Given the description of an element on the screen output the (x, y) to click on. 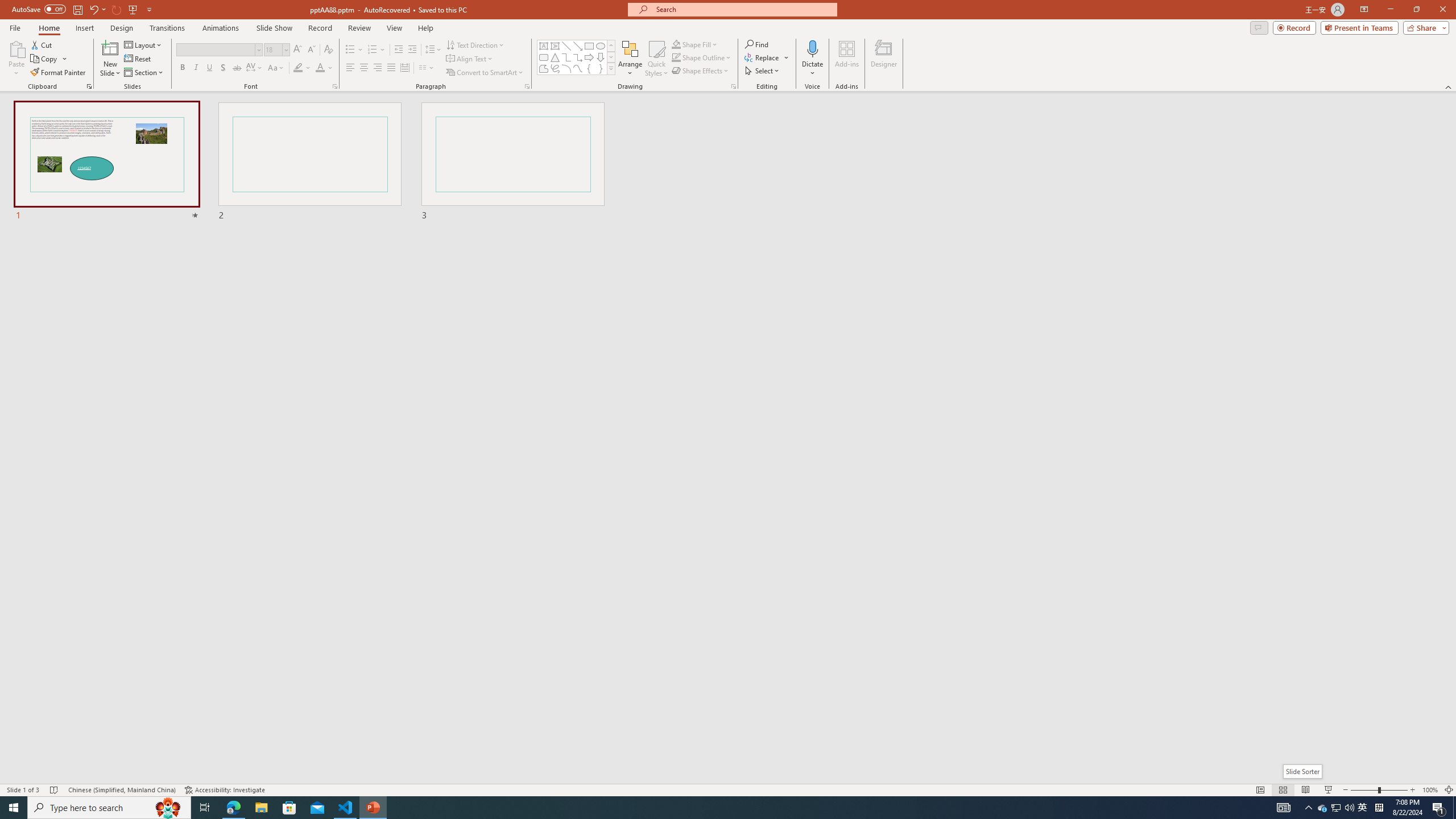
Freeform: Shape (543, 68)
Customize Quick Access Toolbar (149, 9)
Vertical Text Box (554, 45)
Convert to SmartArt (485, 72)
Zoom (1379, 790)
Font (219, 49)
Bold (182, 67)
Line Spacing (433, 49)
Microsoft search (742, 9)
Shape Effects (700, 69)
Arrow: Right (589, 57)
Office Clipboard... (88, 85)
Help (425, 28)
Row up (611, 45)
Bullets (349, 49)
